Given the description of an element on the screen output the (x, y) to click on. 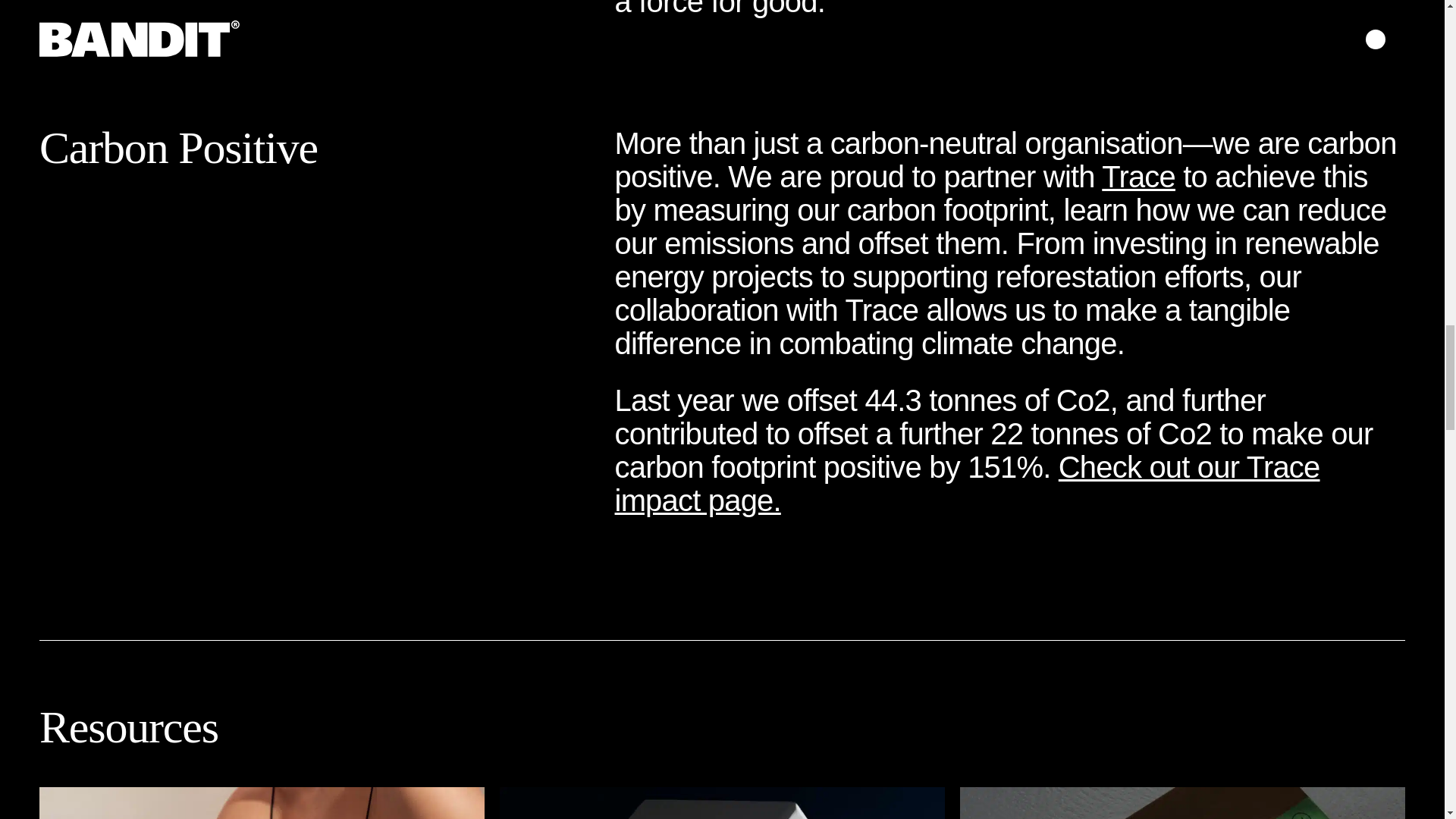
Trace (1138, 176)
Check out our Trace impact page. (967, 483)
